Given the description of an element on the screen output the (x, y) to click on. 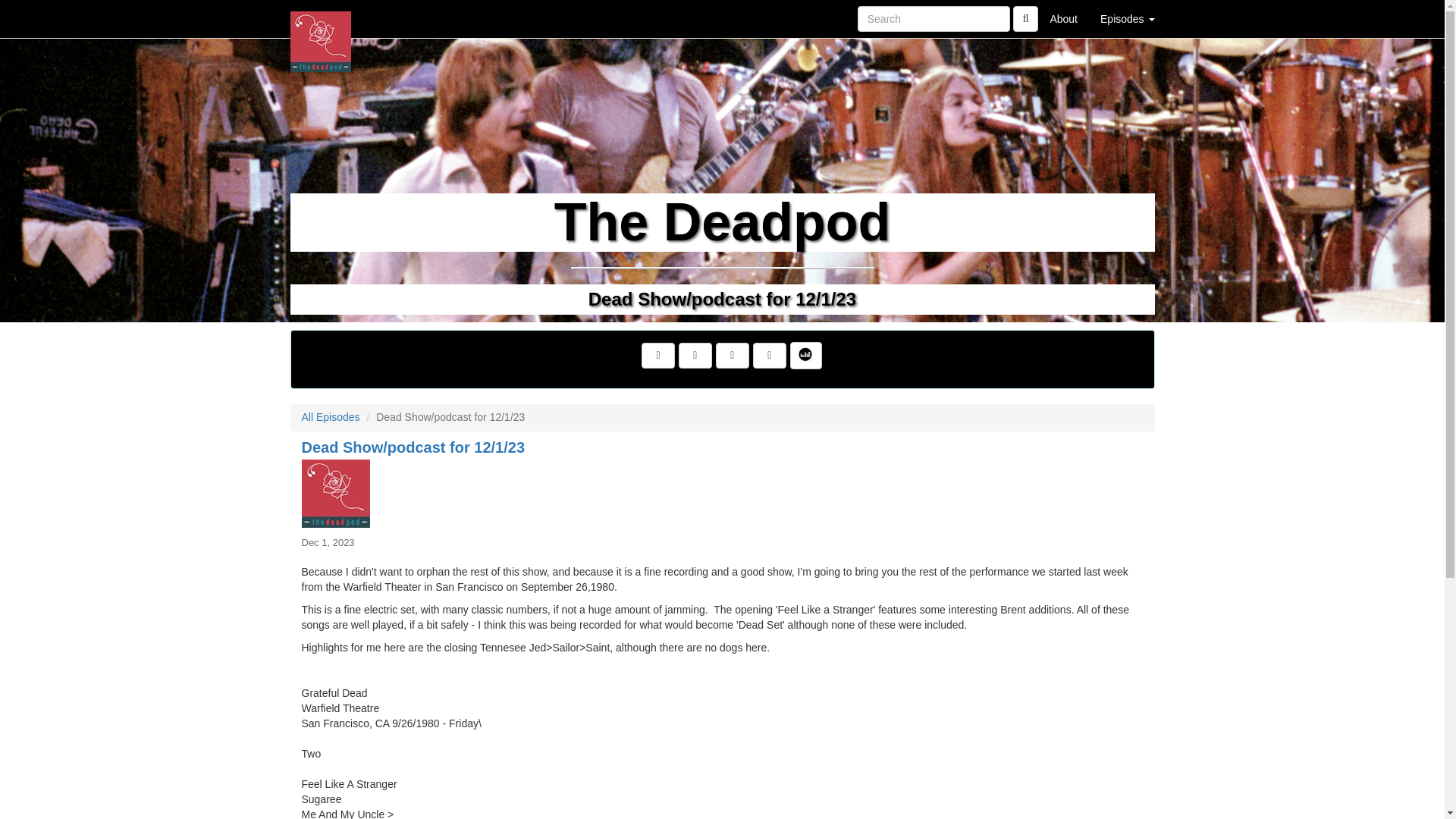
Episodes (1127, 18)
Home Page (320, 18)
About (1063, 18)
